Given the description of an element on the screen output the (x, y) to click on. 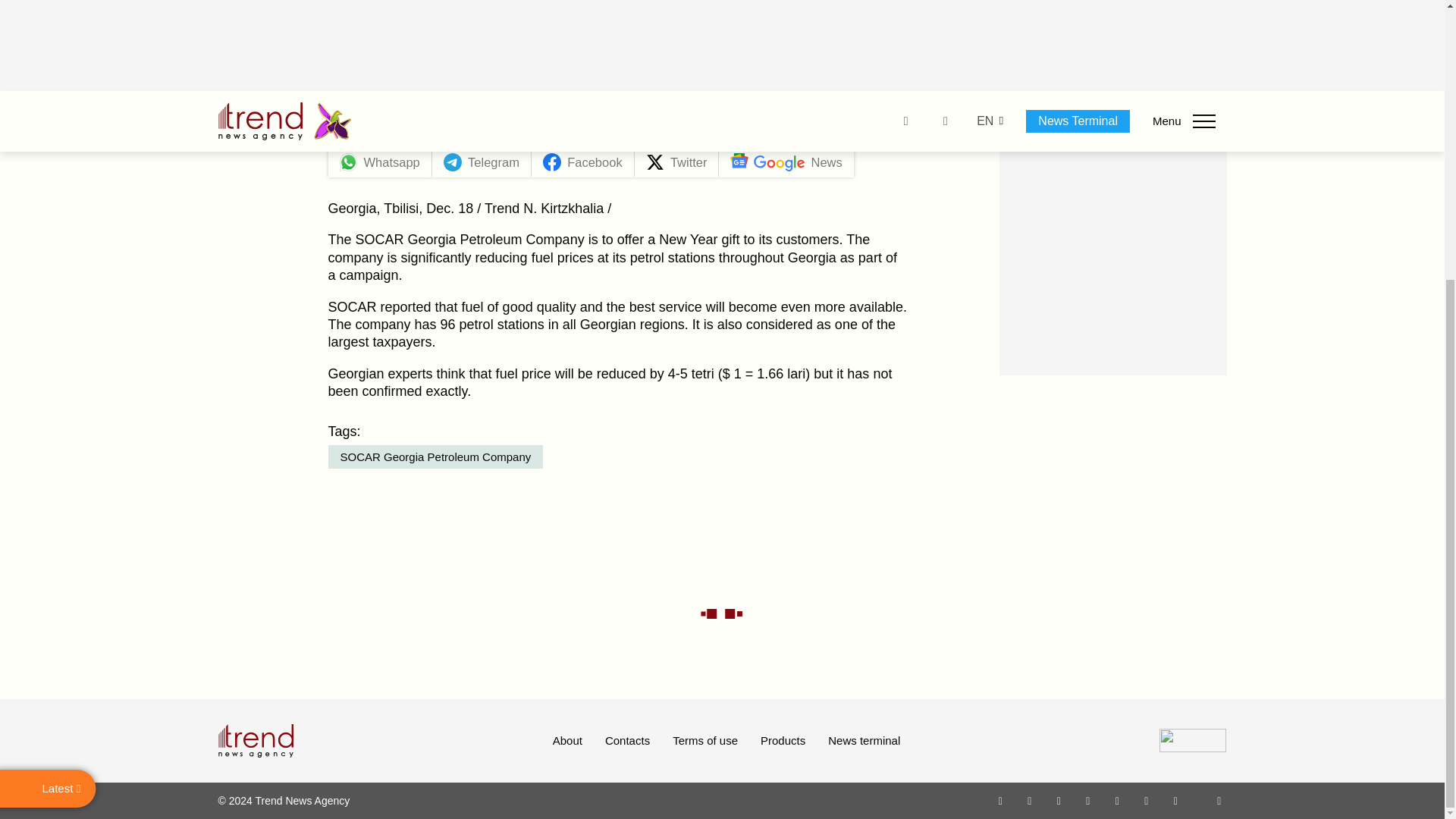
Telegram (1117, 800)
Youtube (1088, 800)
LinkedIn (1146, 800)
Android App (1176, 800)
Facebook (1029, 800)
Whatsapp (1000, 800)
RSS Feed (1219, 800)
Twitter (1059, 800)
